Given the description of an element on the screen output the (x, y) to click on. 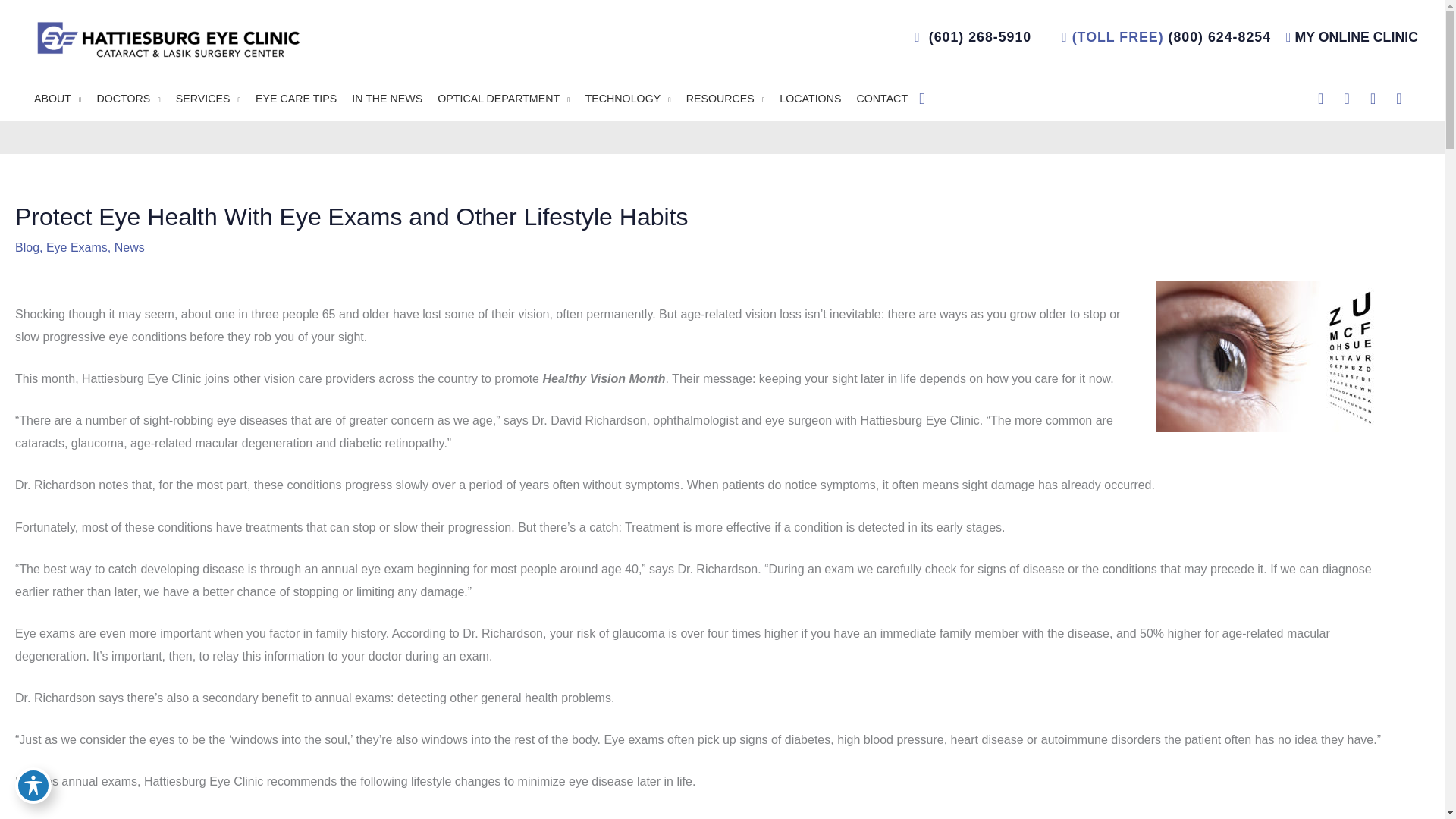
MY ONLINE CLINIC (1356, 37)
ABOUT (57, 98)
DOCTORS (128, 98)
SERVICES (207, 98)
